Given the description of an element on the screen output the (x, y) to click on. 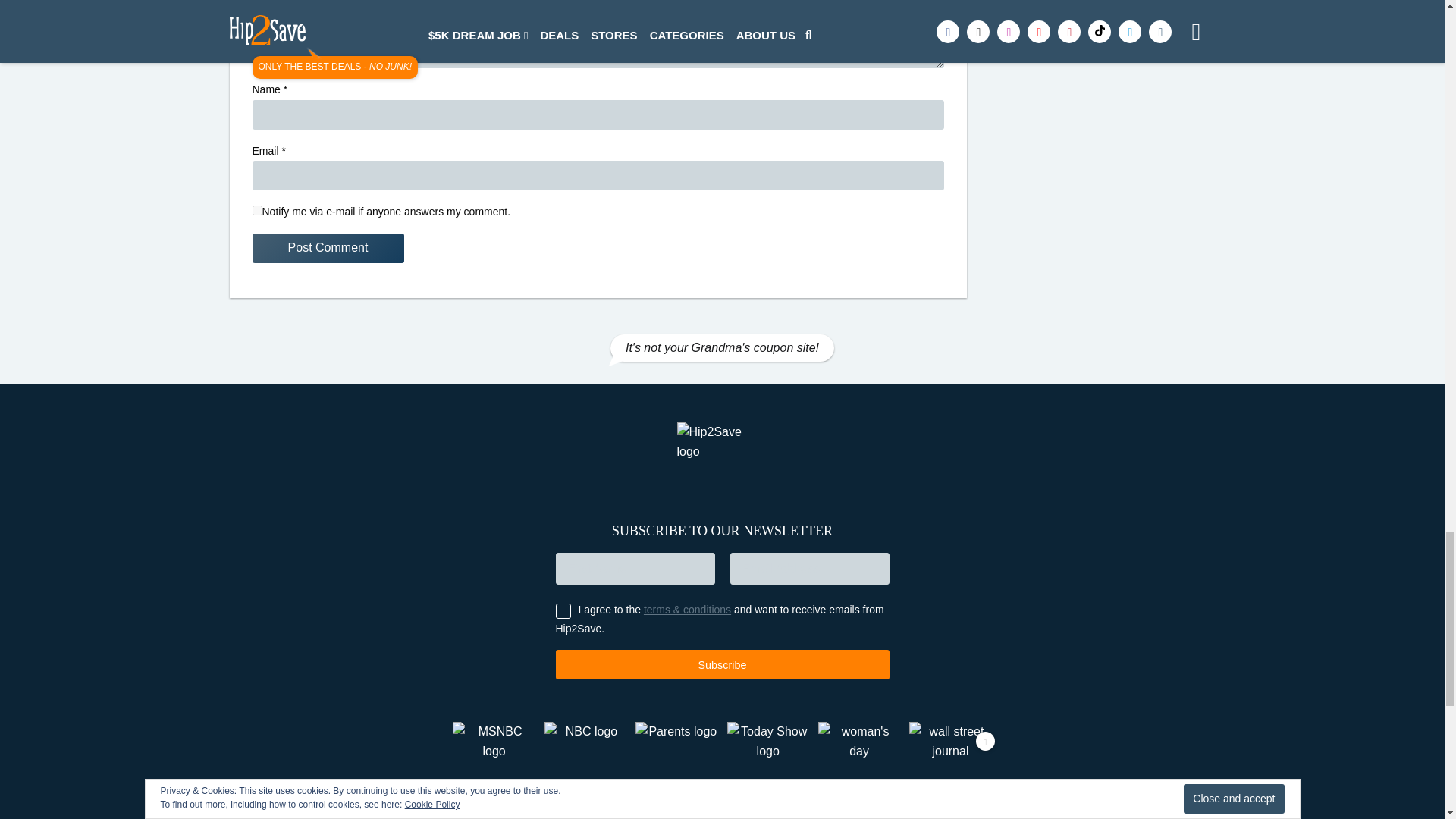
on (256, 210)
Post Comment (327, 247)
Subscribe (721, 664)
